Given the description of an element on the screen output the (x, y) to click on. 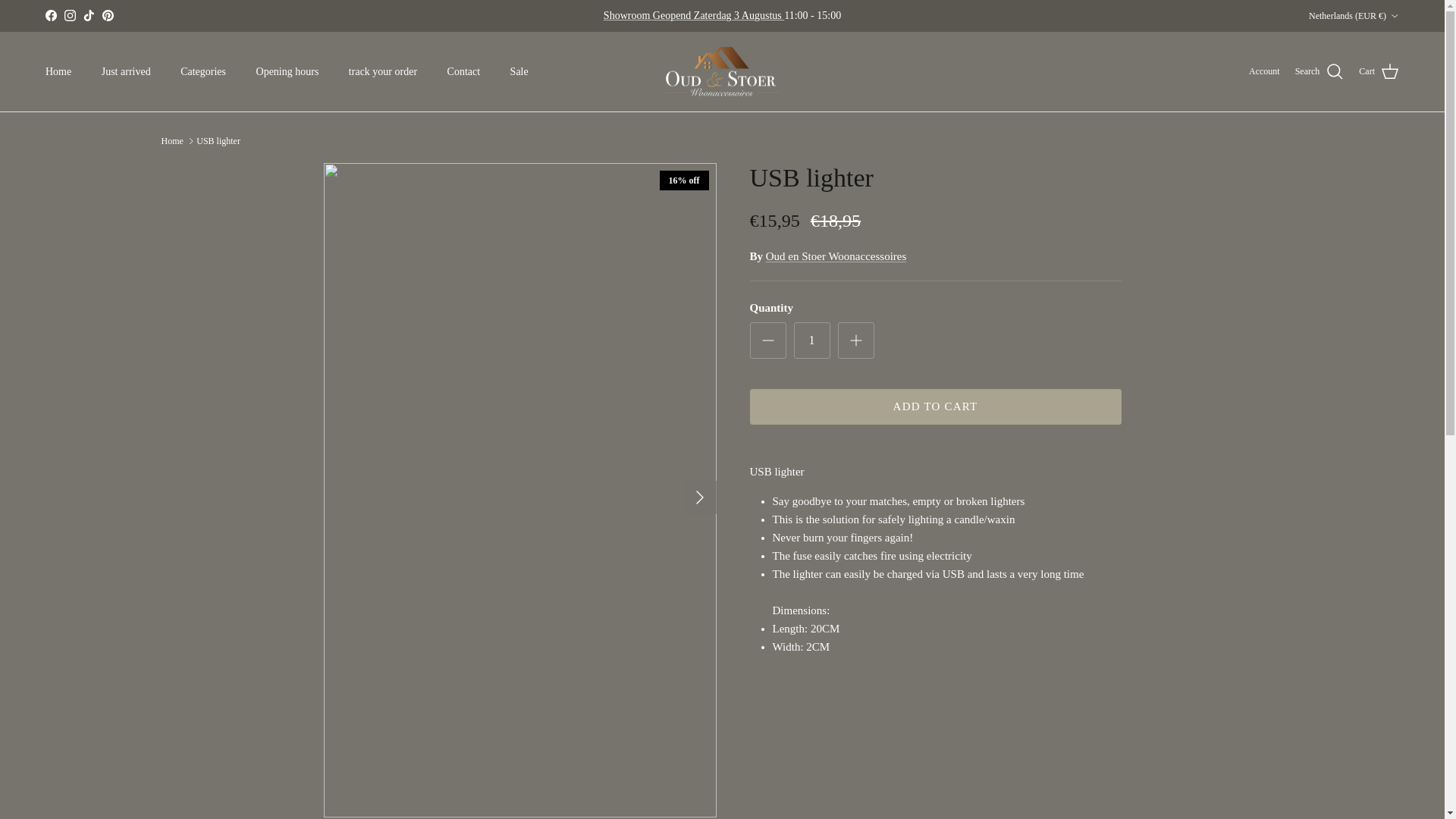
Oud en Stoer Woonaccessoires on TikTok (88, 15)
Oud en Stoer Woonaccessoires (721, 71)
track your order (382, 71)
Search (1319, 71)
TikTok (88, 15)
Showroom Geopend Zaterdag 3 Augustus (694, 15)
Oud en Stoer Woonaccessoires on Facebook (50, 15)
Account (1264, 71)
Cart (1378, 71)
Home (58, 71)
Pinterest (107, 15)
Just arrived (125, 71)
Openingstijden (694, 15)
Opening hours (288, 71)
Facebook (50, 15)
